Given the description of an element on the screen output the (x, y) to click on. 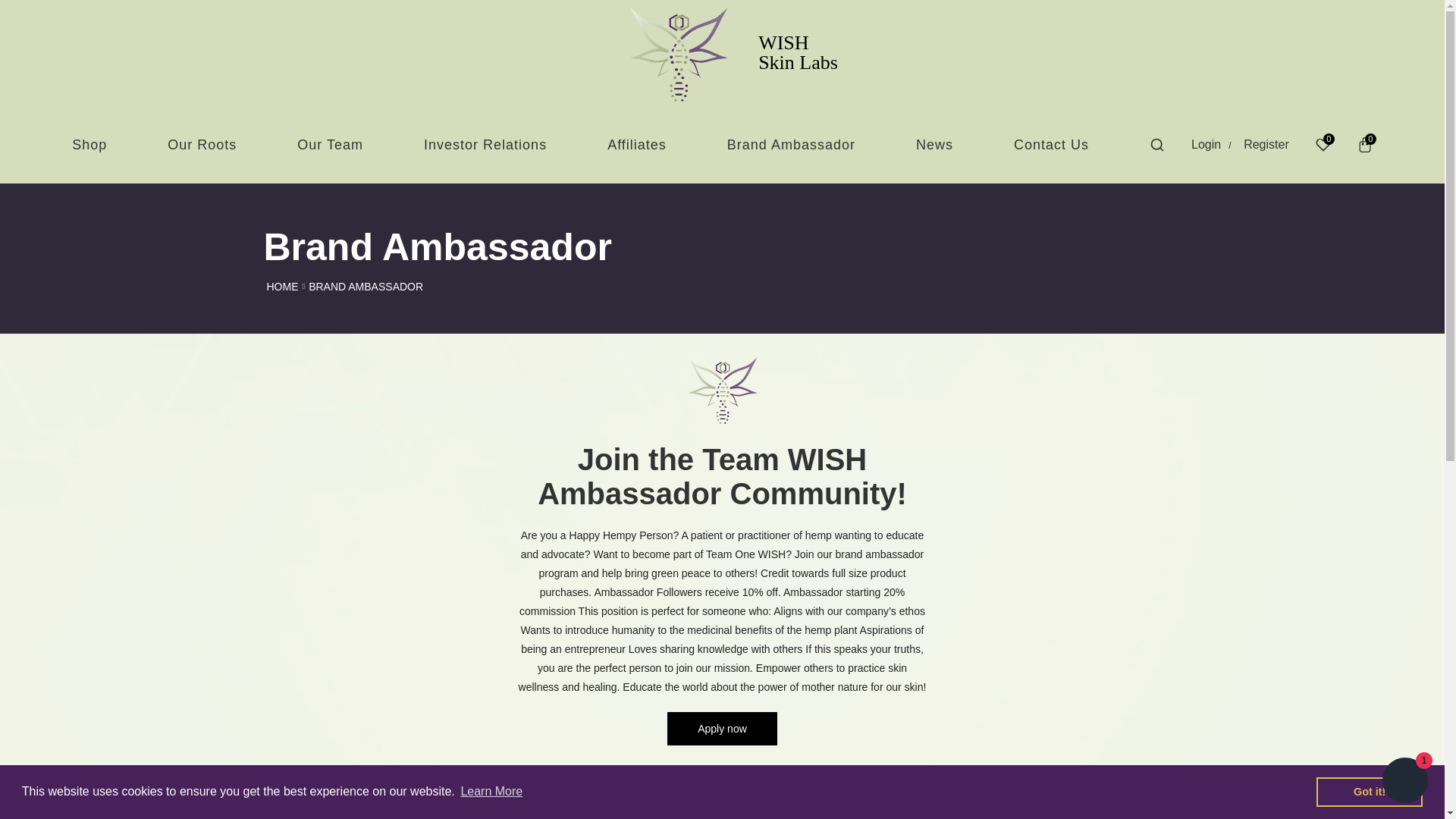
0 (1323, 144)
Our Roots (201, 145)
Contact Us (1051, 145)
Register (1259, 144)
Login (1206, 144)
Wishlist (1323, 144)
Brand Ambassador (791, 145)
Learn More (491, 791)
Got it! (1369, 791)
Back to the home page (282, 286)
Investor Relations (485, 145)
Shopify online store chat (1404, 781)
